Given the description of an element on the screen output the (x, y) to click on. 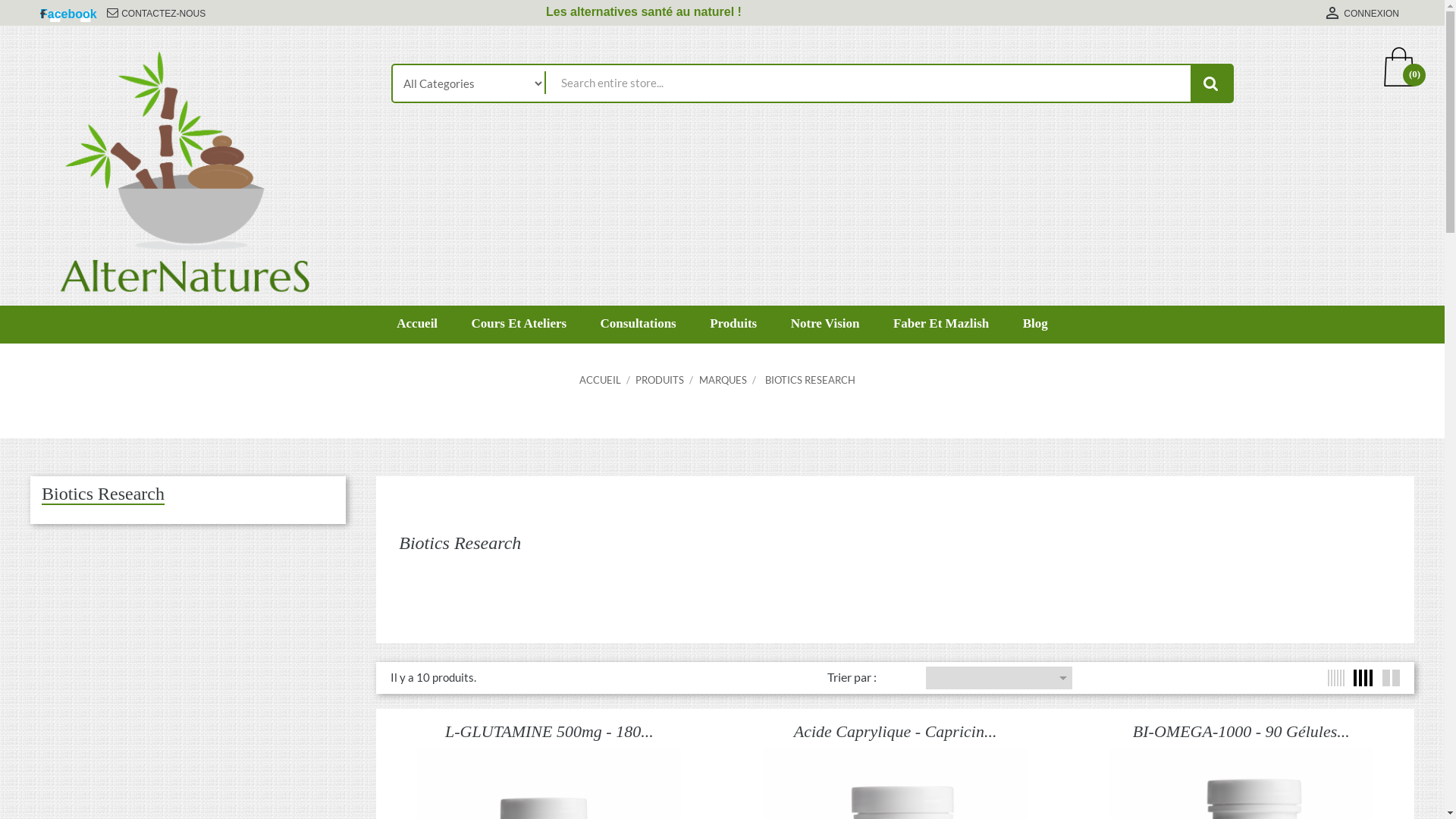
Blog Element type: text (1035, 337)
Cours Et Ateliers Element type: text (519, 337)
Produits Element type: text (732, 337)
Faber Et Mazlish Element type: text (941, 337)
Accueil Element type: text (416, 337)
L-GLUTAMINE 500mg - 180... Element type: text (549, 730)
2 item in line Element type: hover (1390, 677)
BIOTICS RESEARCH Element type: text (810, 379)
CONTACTEZ-NOUS Element type: text (163, 13)
PRODUITS Element type: text (660, 379)
Acide Caprylique - Capricin... Element type: text (895, 730)
Facebook Element type: text (68, 13)
MARQUES Element type: text (724, 379)
Biotics Research Element type: text (102, 494)
Notre Vision Element type: text (825, 337)
ACCUEIL Element type: text (601, 379)
6 item in line Element type: hover (1335, 677)
4 item in line Element type: hover (1362, 677)
Consultations Element type: text (638, 337)
